Given the description of an element on the screen output the (x, y) to click on. 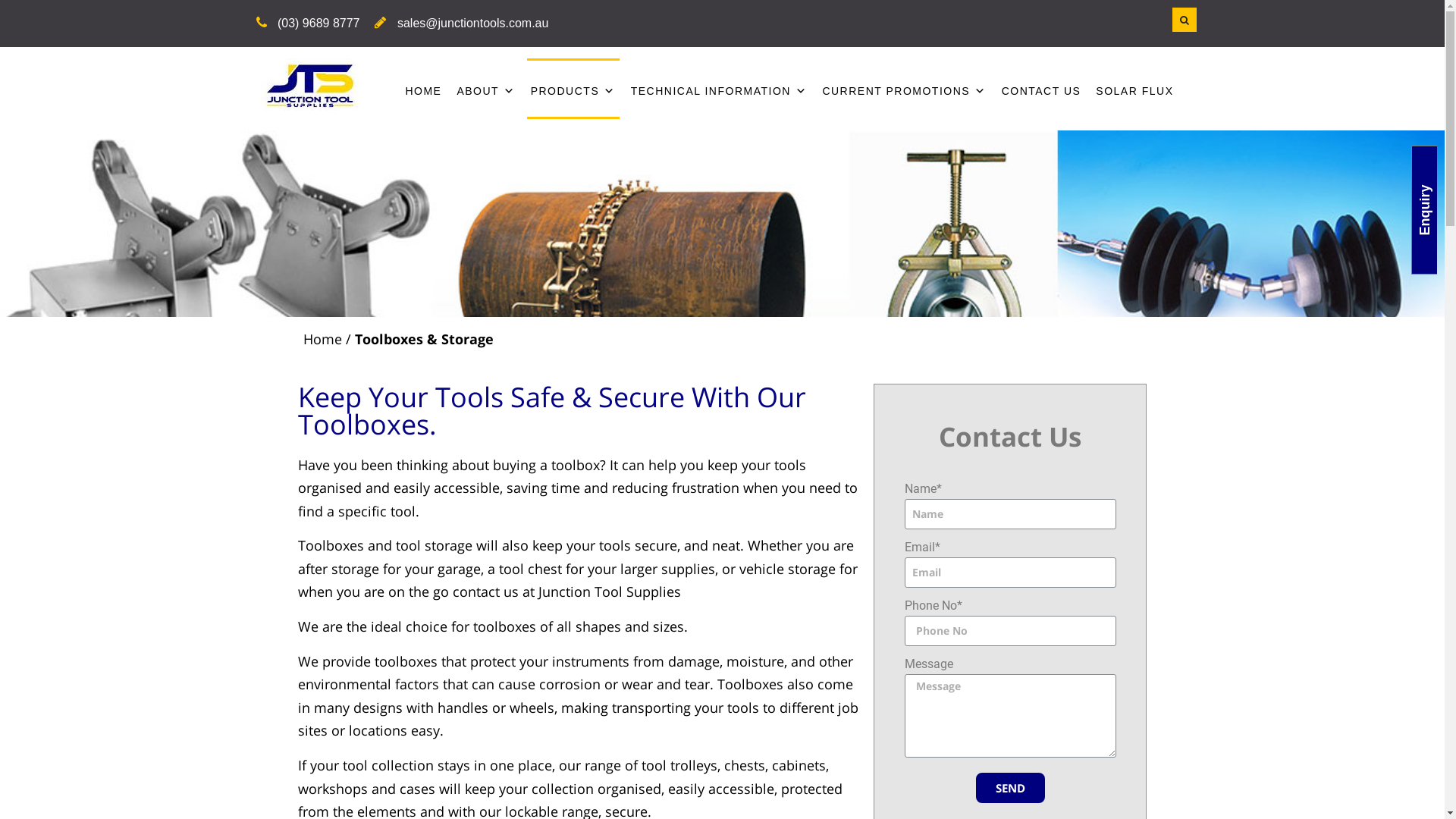
SOLAR FLUX Element type: text (1134, 87)
Home Element type: text (322, 338)
Toolboxes & Storage Element type: text (423, 338)
(03) 9689 8777 Element type: text (318, 23)
ABOUT Element type: text (485, 87)
sales@junctiontools.com.au Element type: text (472, 23)
CONTACT US Element type: text (1041, 87)
HOME Element type: text (423, 87)
PRODUCTS Element type: text (573, 87)
SEND Element type: text (1009, 787)
CURRENT PROMOTIONS Element type: text (903, 87)
TECHNICAL INFORMATION Element type: text (719, 87)
